Given the description of an element on the screen output the (x, y) to click on. 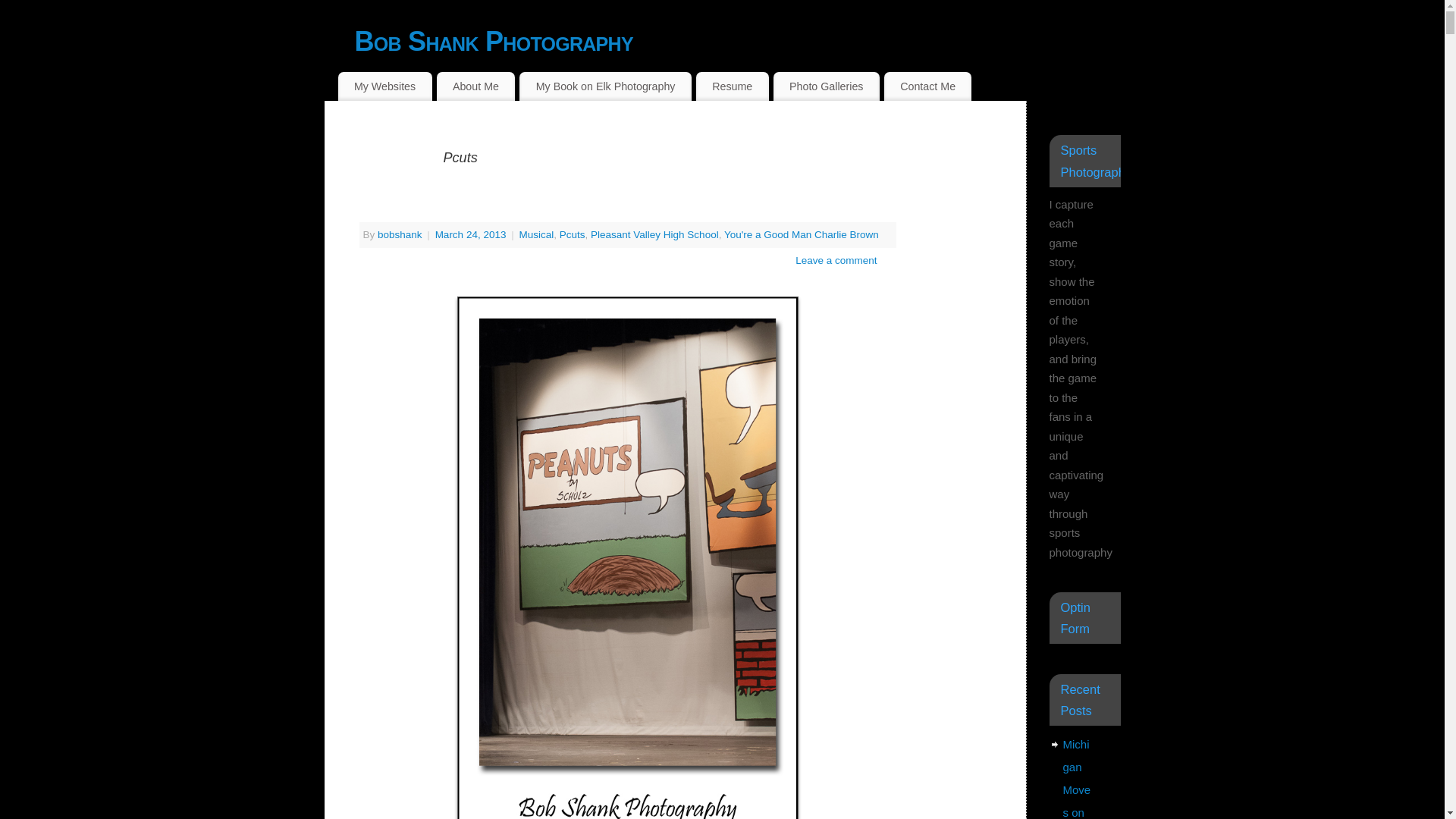
Bob Shank Photography (738, 41)
Pcuts (382, 207)
Pleasant Valley High School (655, 234)
Pcuts (572, 234)
Resume (731, 86)
Leave a comment (835, 260)
Photo Galleries (826, 86)
About Me (475, 86)
March 24, 2013 (472, 234)
bobshank (399, 234)
Musical (535, 234)
You're a Good Man Charlie Brown (801, 234)
Contact Me (927, 86)
My Websites (384, 86)
Permalink to Pcuts (382, 207)
